Given the description of an element on the screen output the (x, y) to click on. 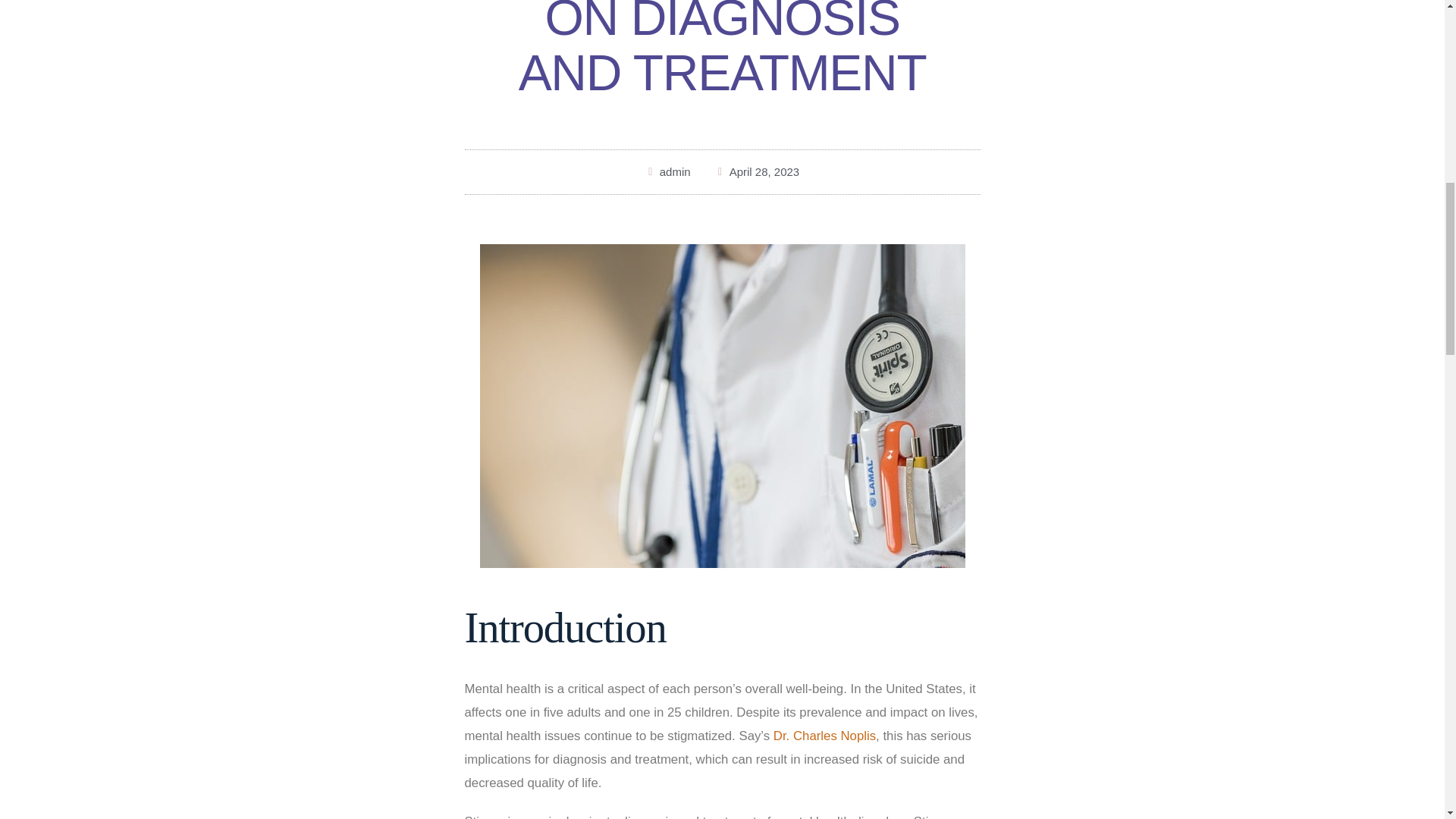
Dr. Charles Noplis (824, 735)
admin (667, 171)
April 28, 2023 (756, 171)
Dr. Charles Noplis (824, 735)
